Given the description of an element on the screen output the (x, y) to click on. 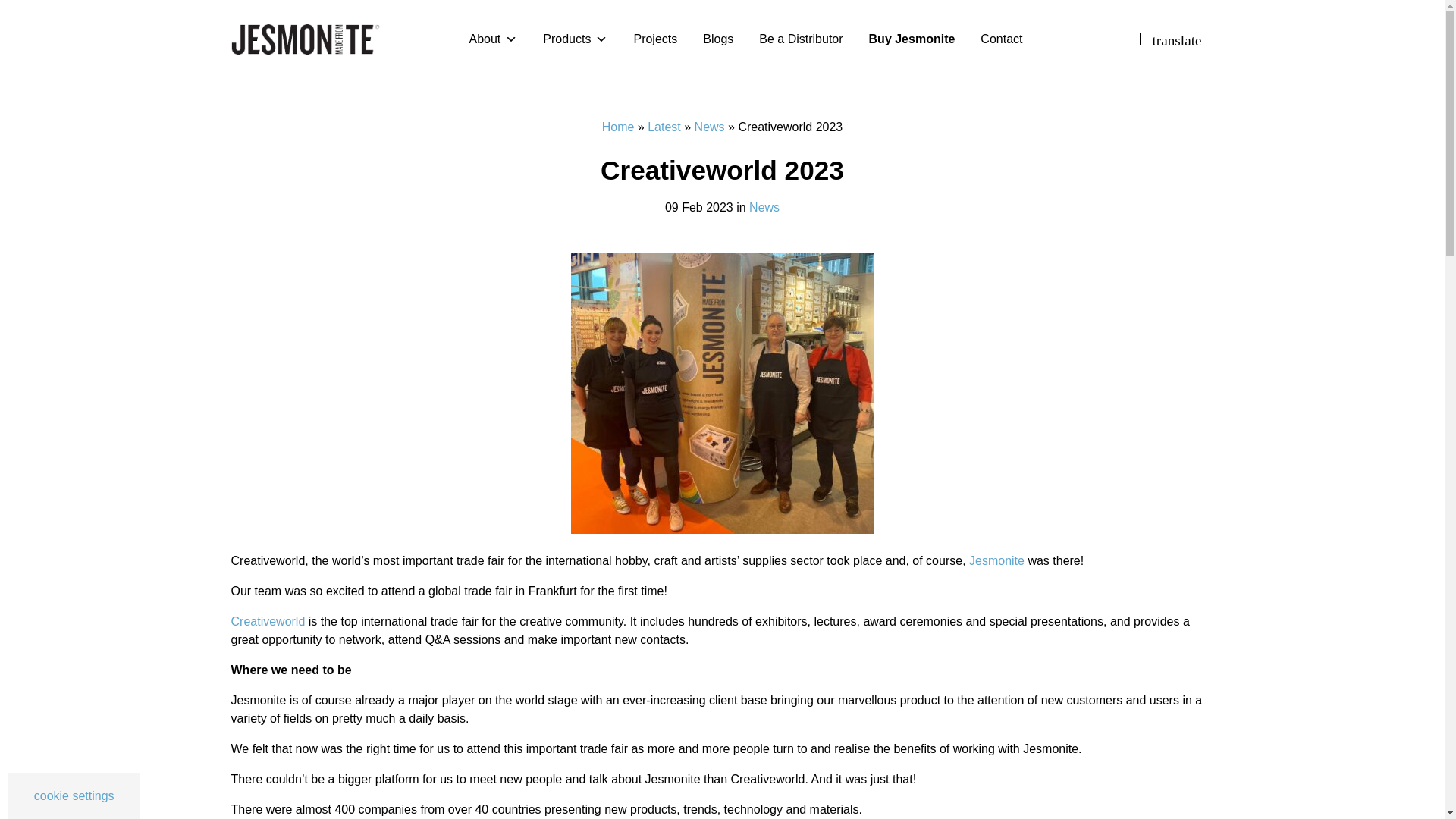
Be a Distributor (800, 39)
Translate (1177, 38)
Jesmonite (304, 39)
Products (574, 39)
Contact (1000, 39)
About (492, 39)
translate (1177, 38)
Buy Jesmonite (911, 39)
Projects (654, 39)
Blogs (718, 39)
